Given the description of an element on the screen output the (x, y) to click on. 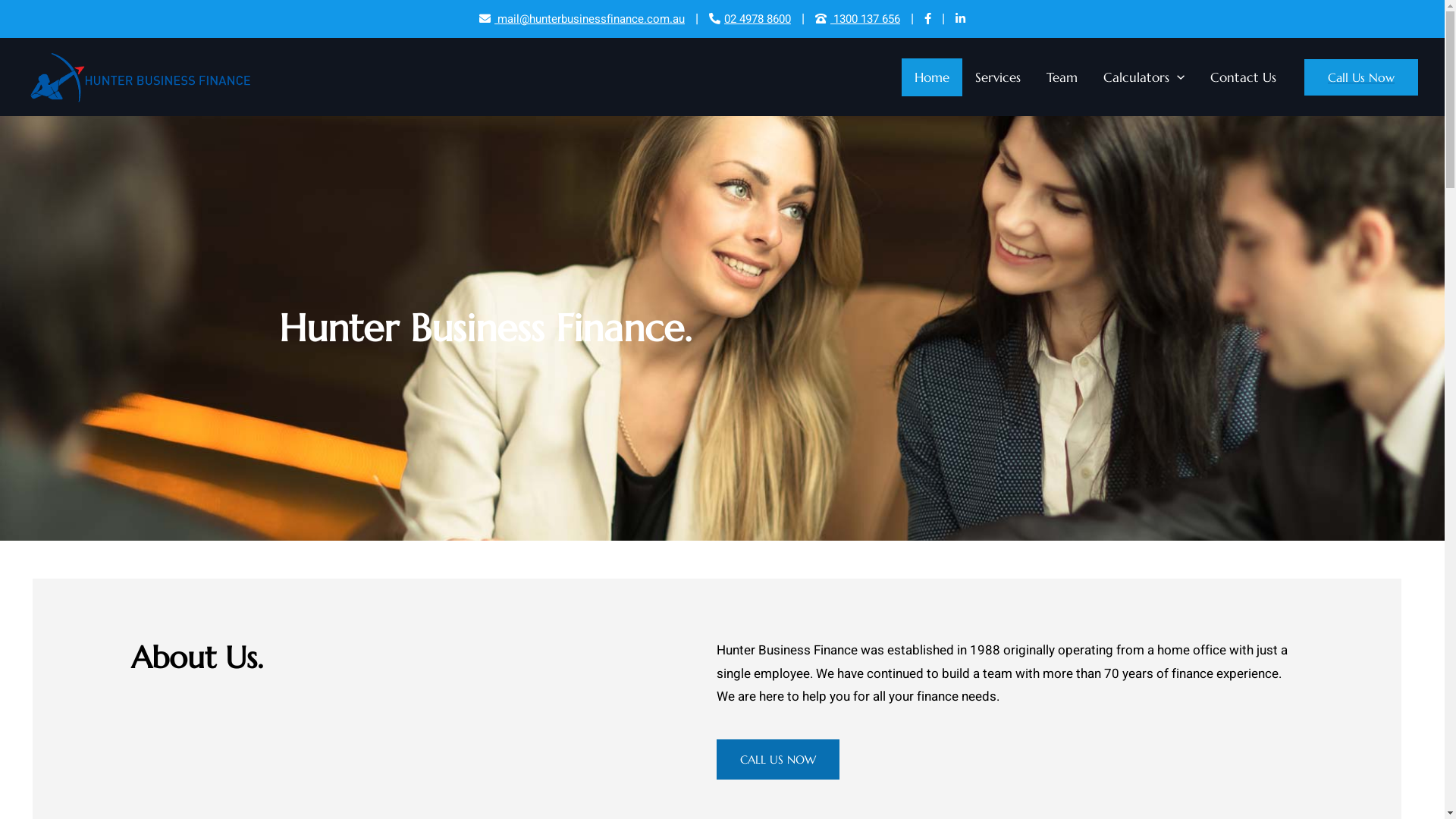
02 4978 8600 Element type: text (749, 18)
Calculators Element type: text (1143, 76)
Services Element type: text (997, 76)
Contact Us Element type: text (1243, 76)
mail@hunterbusinessfinance.com.au Element type: text (581, 18)
Home Element type: text (931, 76)
1300 137 656 Element type: text (857, 18)
Call Us Now Element type: text (1361, 77)
CALL US NOW Element type: text (777, 759)
Team Element type: text (1061, 76)
